Given the description of an element on the screen output the (x, y) to click on. 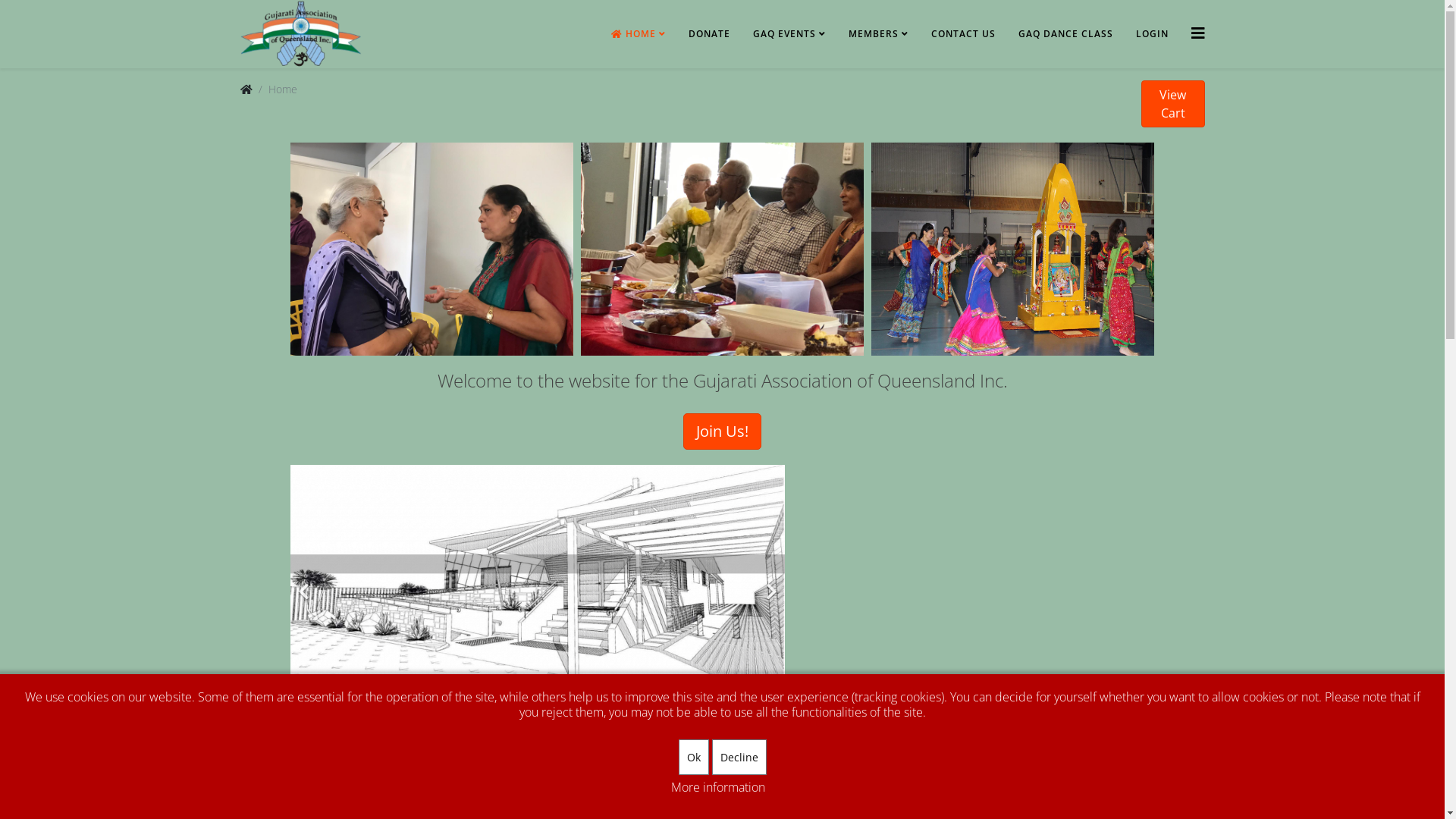
CONTACT US Element type: text (962, 34)
DONATE Element type: text (708, 34)
Helix3 Megamenu Options Element type: hover (1197, 32)
GAQ EVENTS Element type: text (789, 34)
Our Development Element type: text (536, 727)
View Cart Element type: text (1172, 103)
Ok Element type: text (692, 757)
MEMBERS Element type: text (878, 34)
HOME Element type: text (637, 34)
GAQ DANCE CLASS Element type: text (1065, 34)
LOGIN Element type: text (1151, 34)
More information Element type: text (717, 787)
Decline Element type: text (738, 757)
Join Us! Element type: text (722, 431)
